Given the description of an element on the screen output the (x, y) to click on. 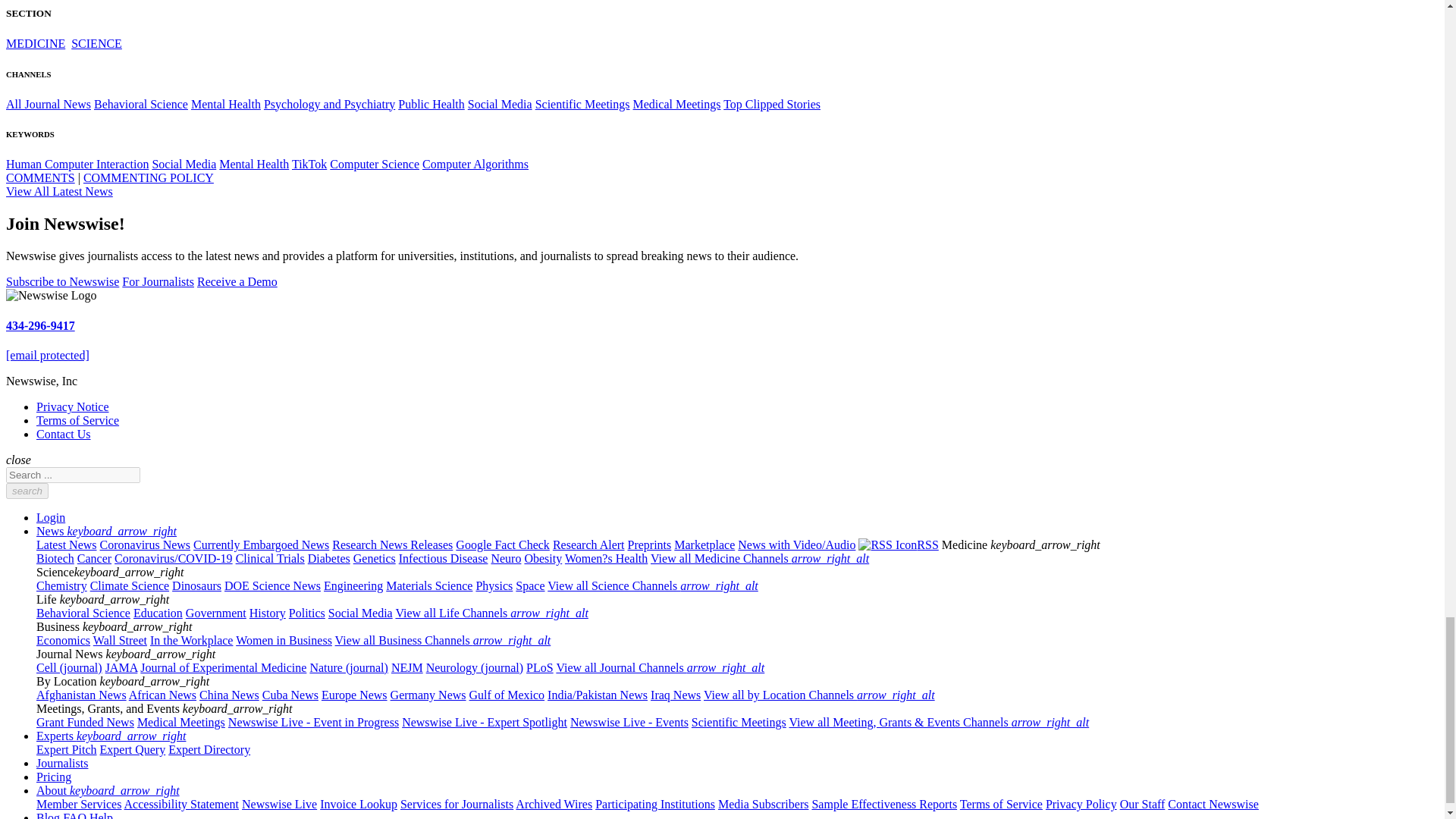
Show all articles in this channel (35, 42)
Show all articles in this channel (47, 103)
Show all articles in this channel (96, 42)
